Given the description of an element on the screen output the (x, y) to click on. 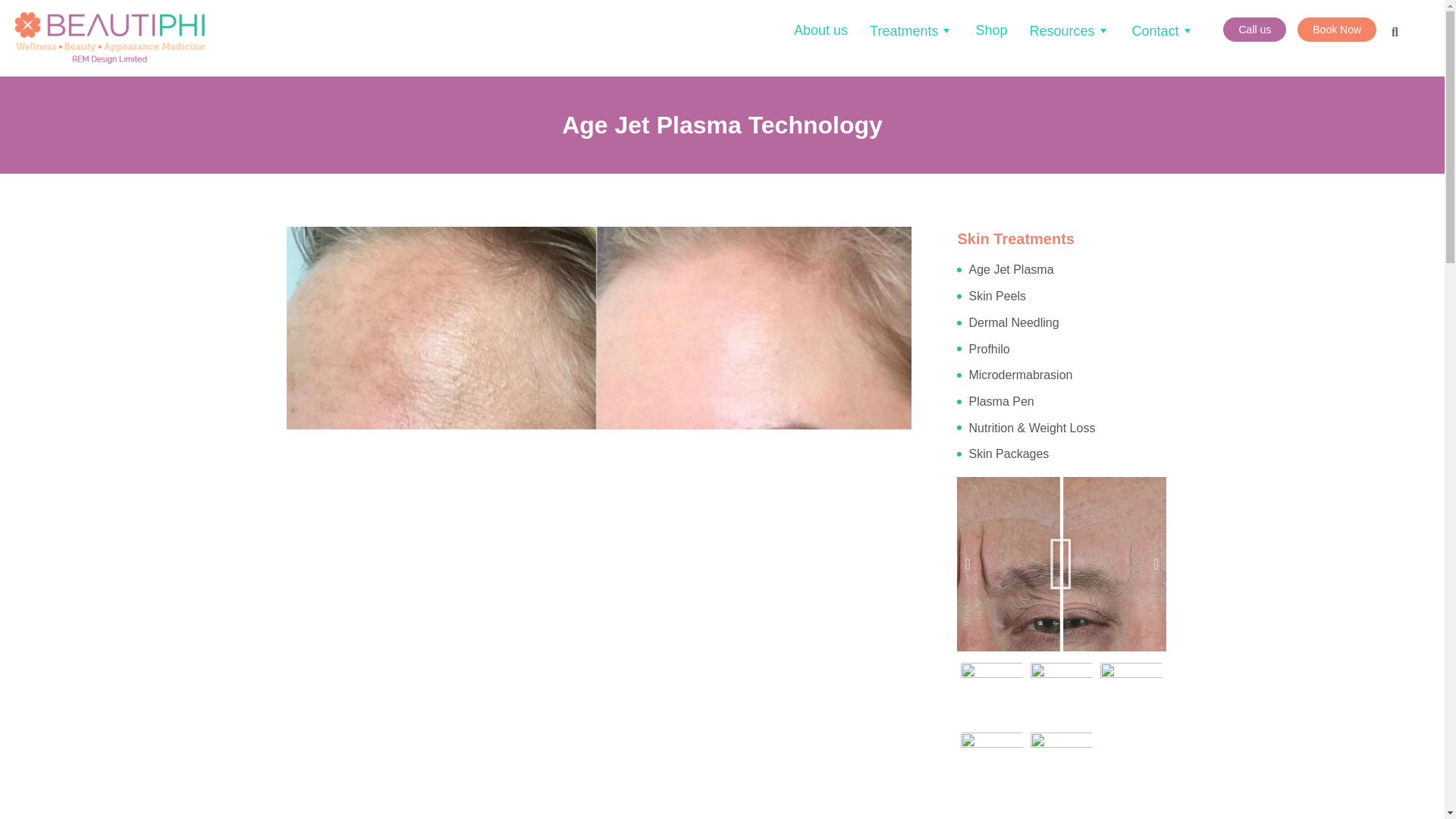
Treatments (911, 30)
About us (821, 30)
